Given the description of an element on the screen output the (x, y) to click on. 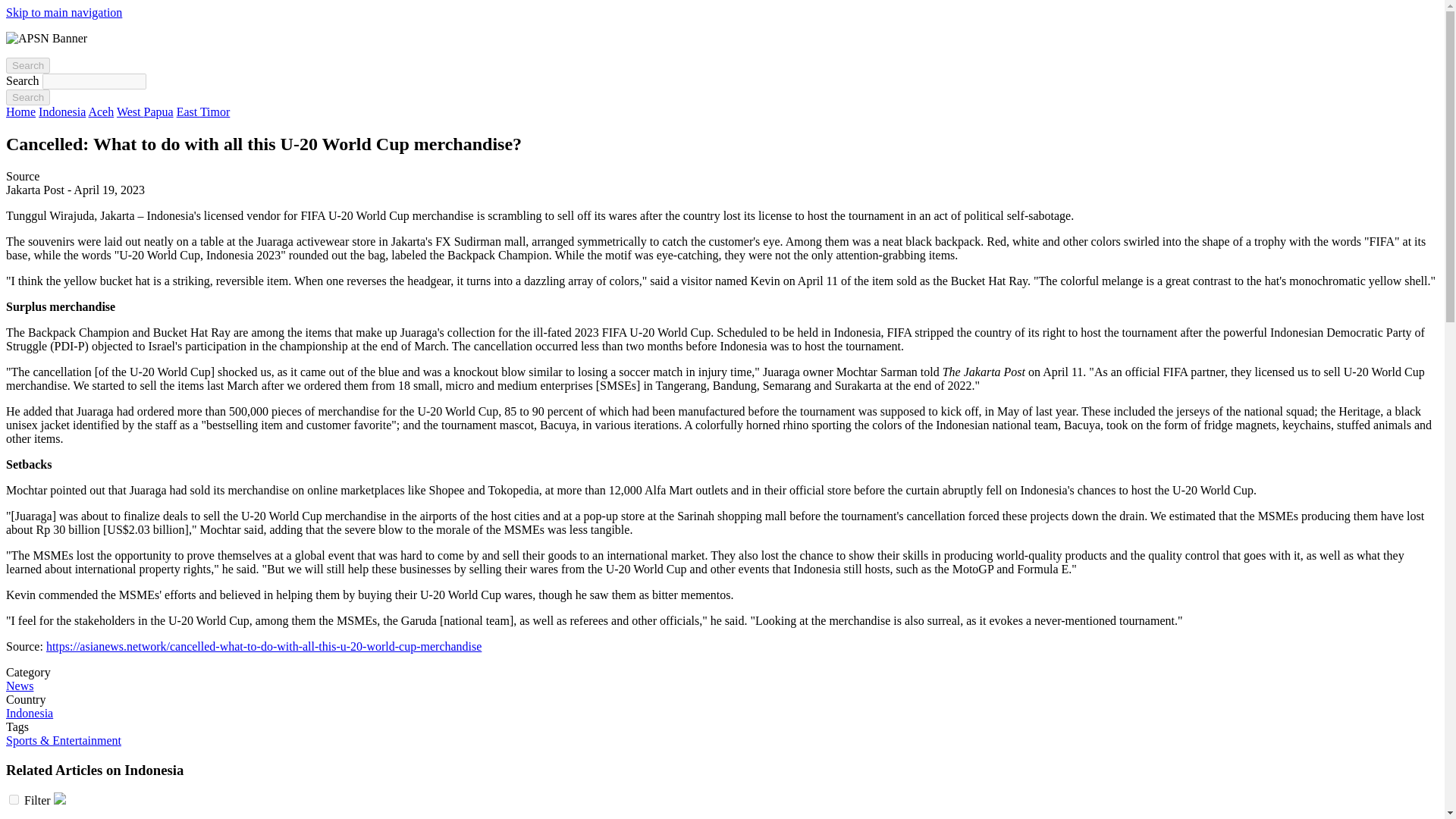
Aceh (100, 111)
Indonesia (28, 712)
Search (27, 97)
Enter the terms you wish to search for. (94, 81)
Search (27, 97)
West Papua (144, 111)
News (19, 685)
on (13, 799)
East Timor (203, 111)
Search this site (27, 65)
